Given the description of an element on the screen output the (x, y) to click on. 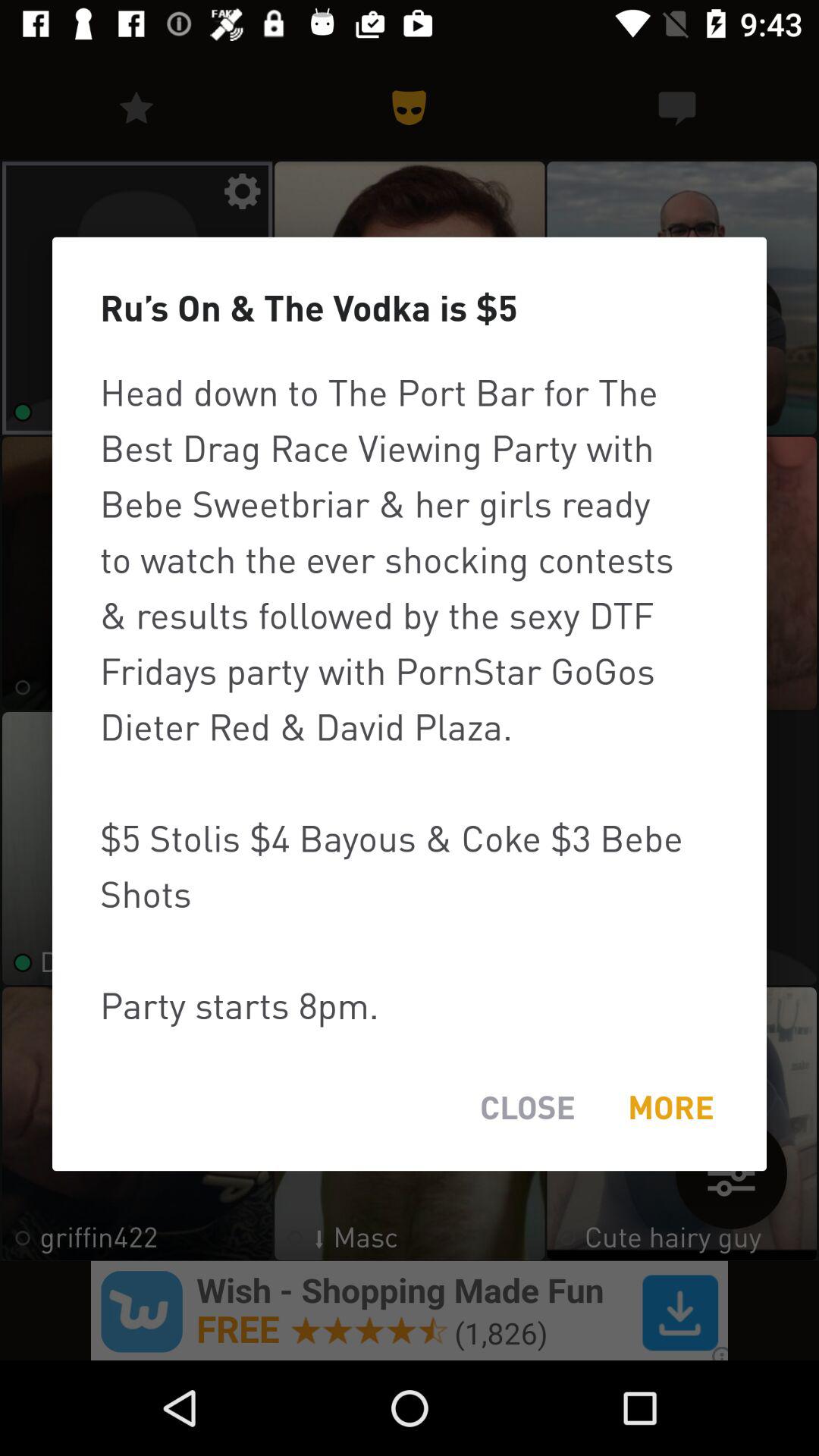
launch the item below head down to item (527, 1107)
